Given the description of an element on the screen output the (x, y) to click on. 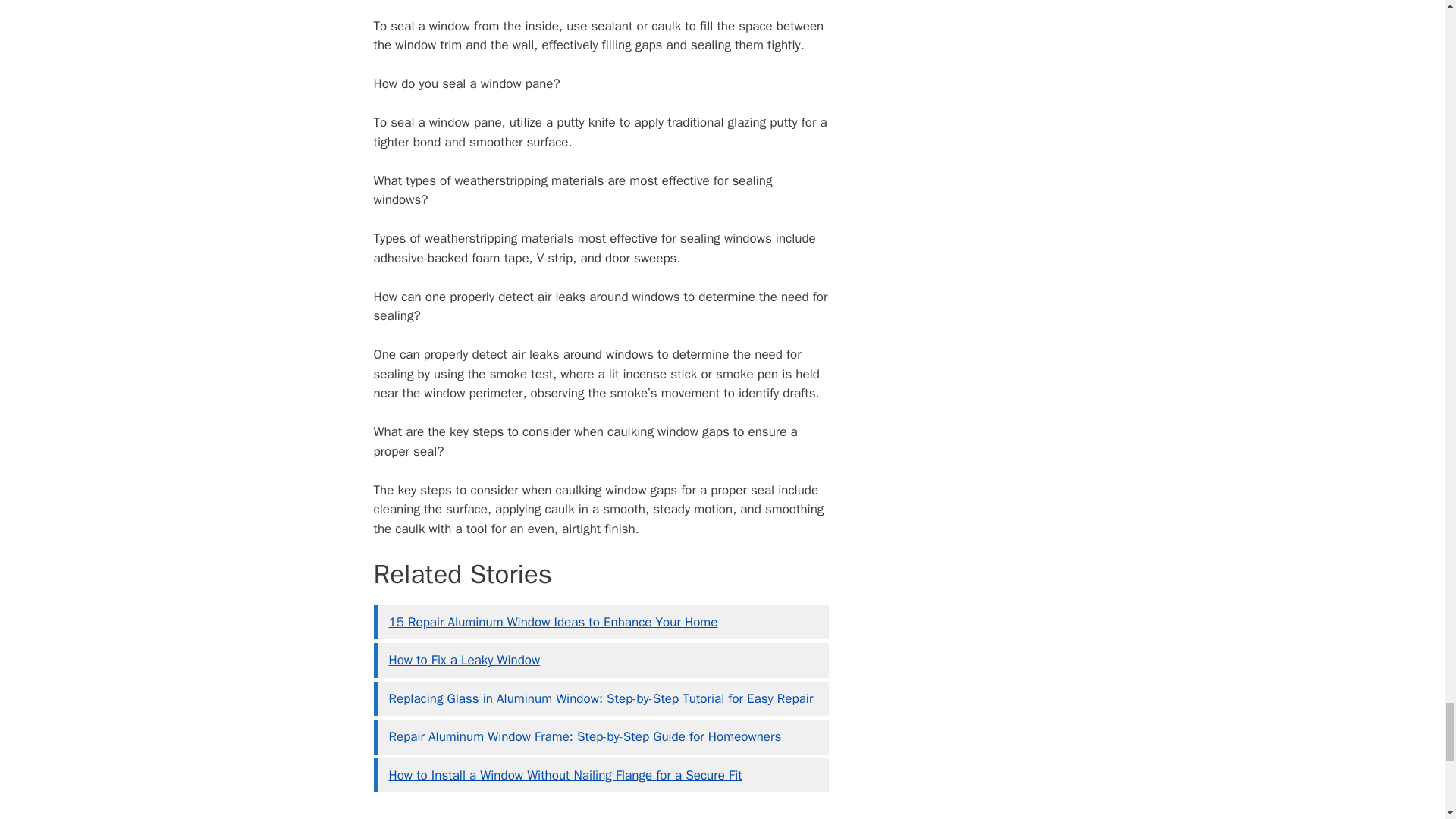
15 Repair Aluminum Window Ideas to Enhance Your Home (552, 621)
How to Fix a Leaky Window (464, 659)
15 Repair Aluminum Window Ideas to Enhance Your Home (552, 621)
How to Fix a Leaky Window (464, 659)
